Given the description of an element on the screen output the (x, y) to click on. 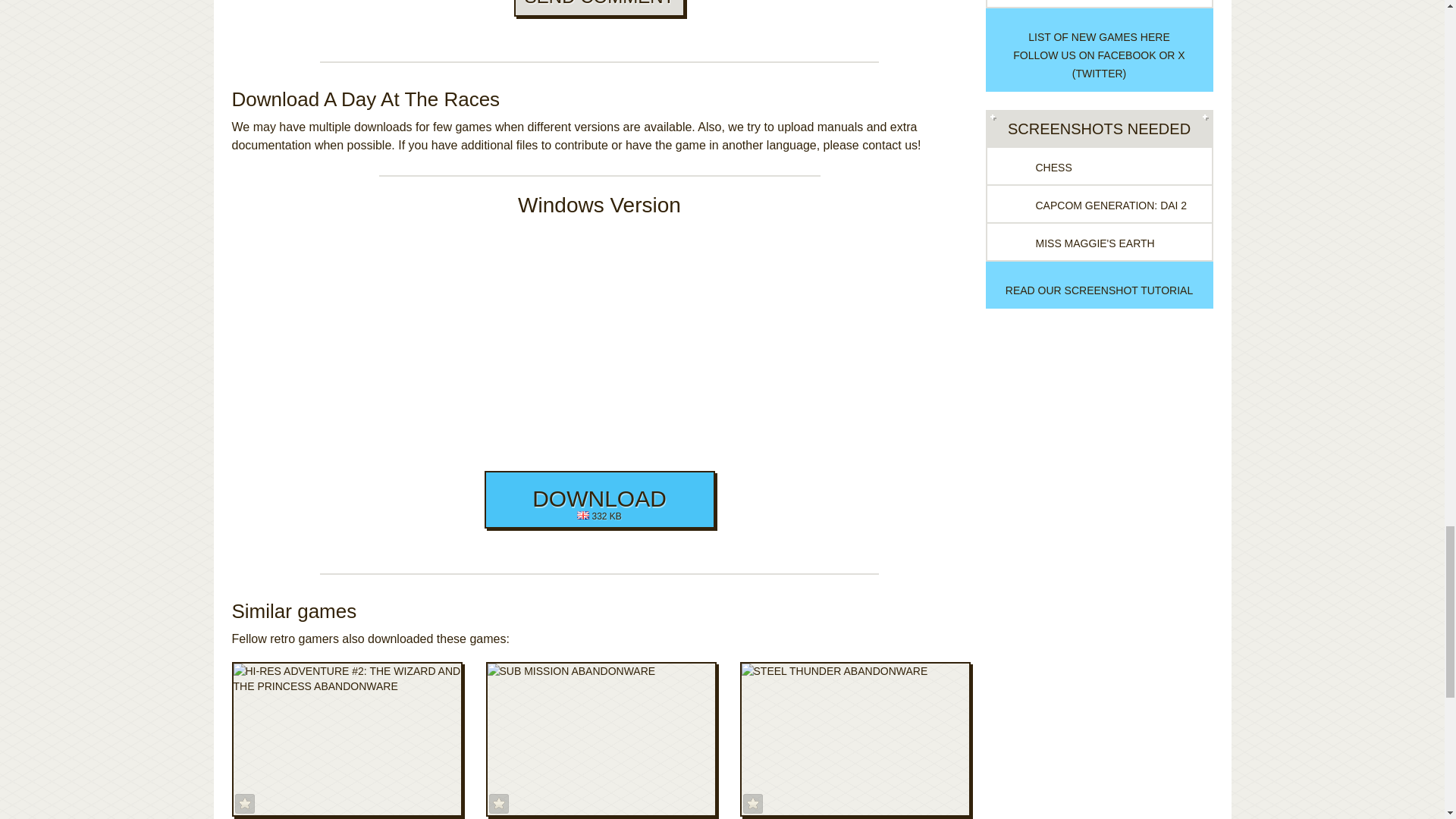
SEND COMMENT (598, 8)
